Given the description of an element on the screen output the (x, y) to click on. 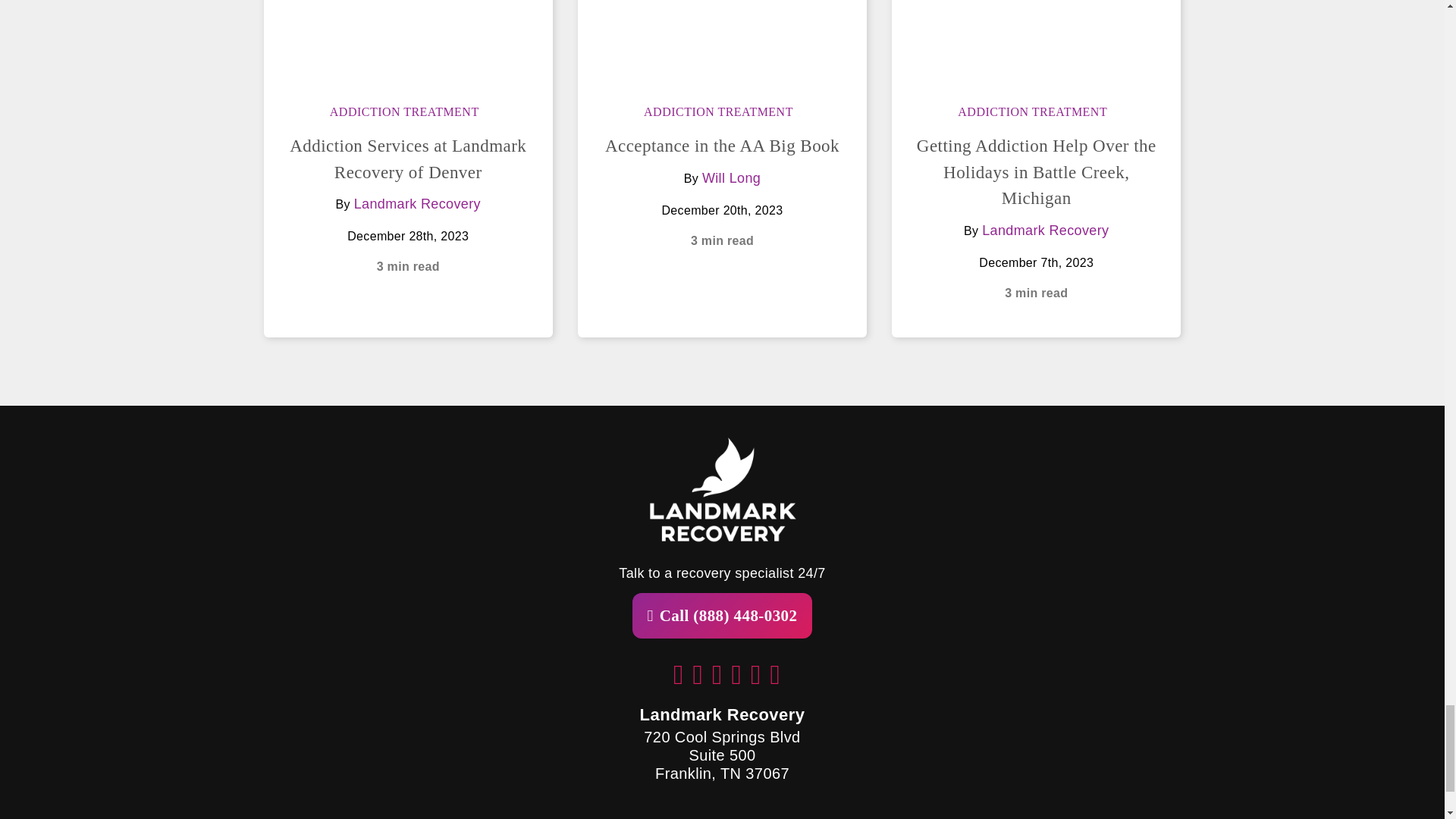
Landmark Recovery (416, 203)
Permanent Link to Acceptance in the AA Big Book (722, 42)
Landmark Recovery (1044, 230)
Permanent Link to Acceptance in the AA Big Book (722, 145)
Will Long (730, 177)
